Given the description of an element on the screen output the (x, y) to click on. 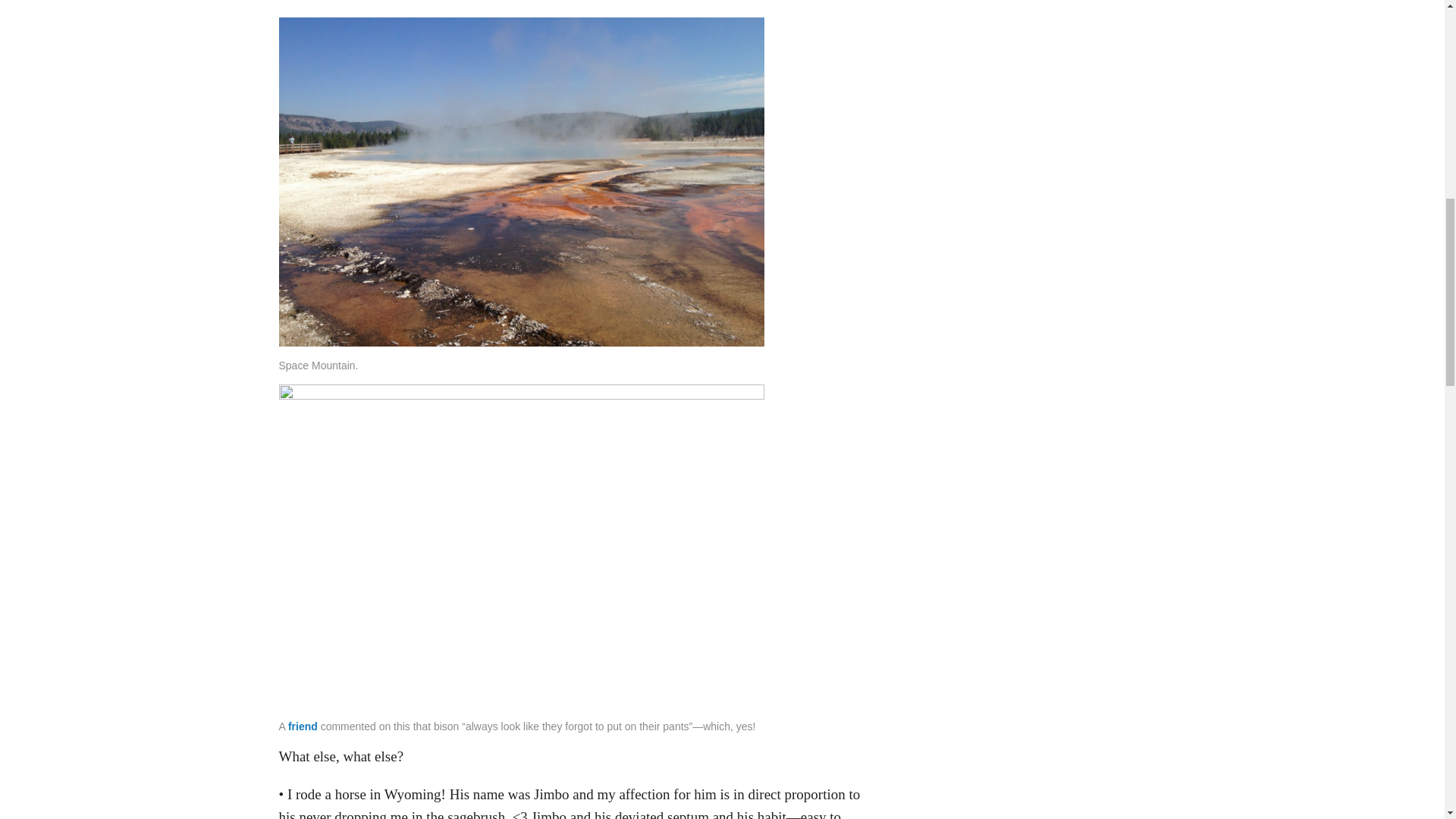
friend (302, 726)
